Given the description of an element on the screen output the (x, y) to click on. 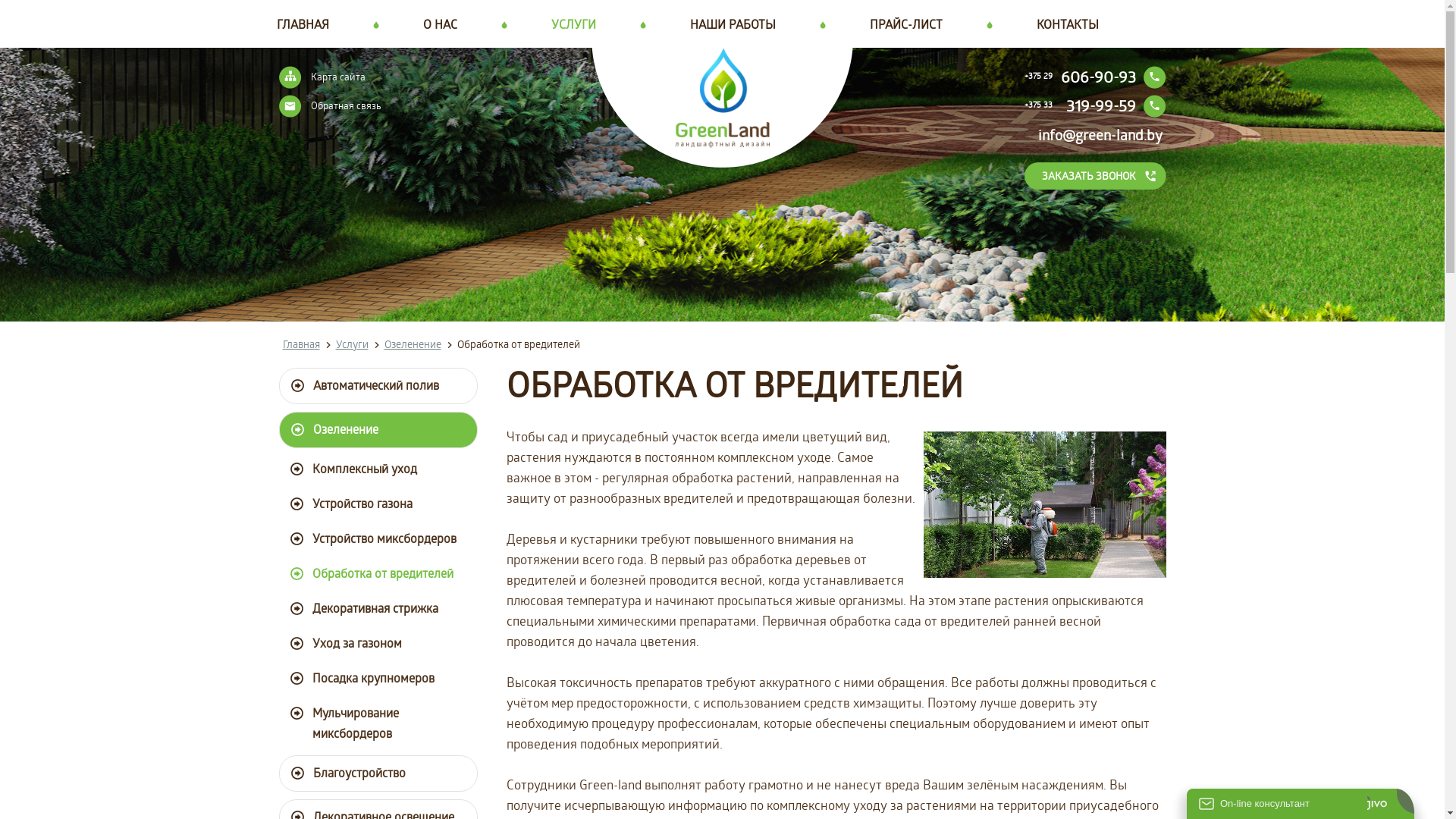
+375 29
606-90-93 Element type: text (1094, 76)
+375 33
319-99-59 Element type: text (1094, 105)
info@green-land.by Element type: text (1099, 134)
